Given the description of an element on the screen output the (x, y) to click on. 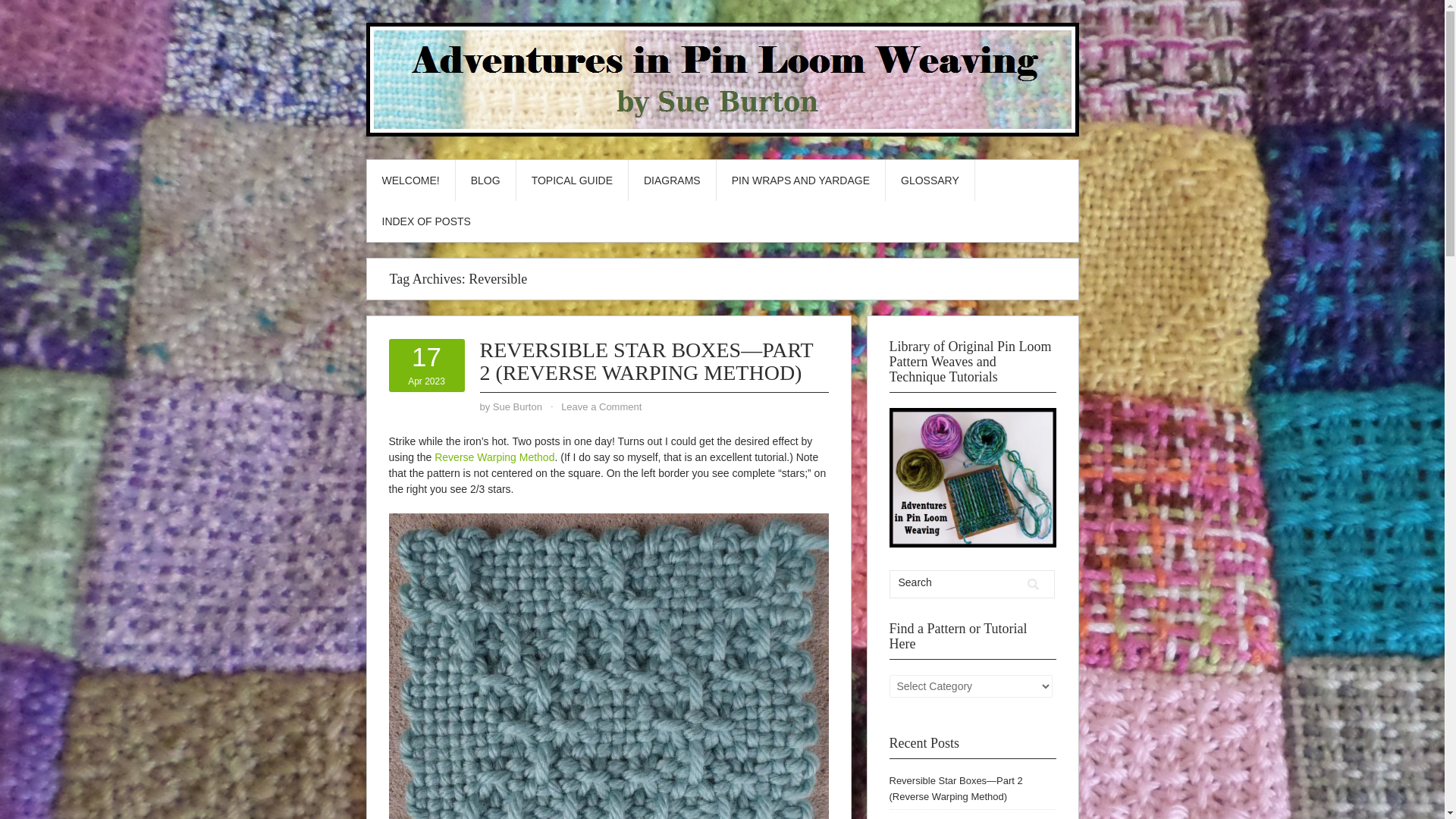
Sue Burton (517, 406)
GLOSSARY (929, 179)
INDEX OF POSTS (426, 220)
Search (1032, 584)
by Sue Burton (517, 406)
17 April 2023 5:54 PM (426, 364)
WELCOME! (410, 179)
TOPICAL GUIDE (571, 179)
Leave a Comment (601, 406)
BLOG (485, 179)
DIAGRAMS (672, 179)
PIN WRAPS AND YARDAGE (800, 179)
Reverse Warping Method (493, 457)
Search (1032, 584)
Search (954, 581)
